Given the description of an element on the screen output the (x, y) to click on. 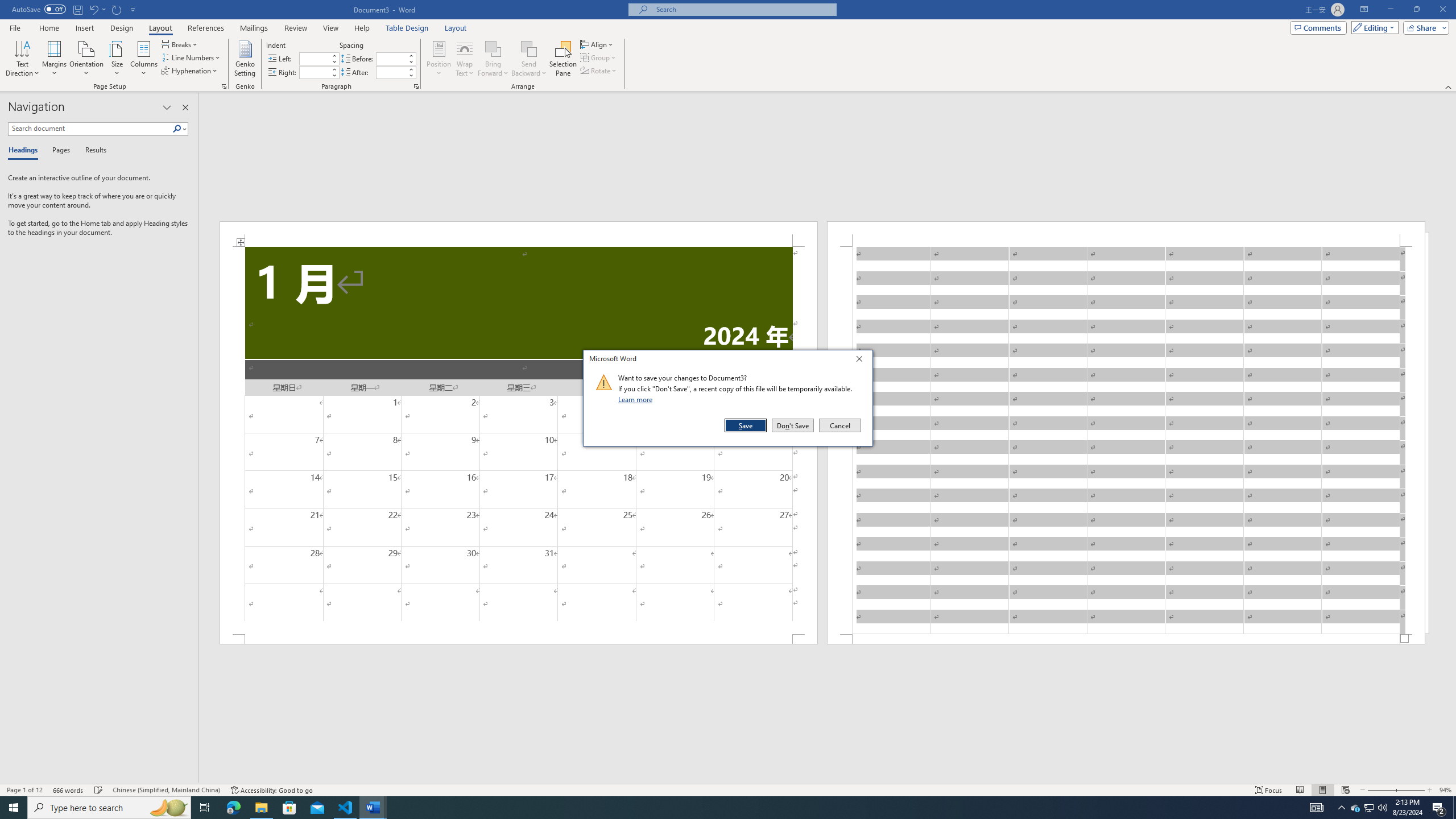
Running applications (717, 807)
Undo Insert Row Below (96, 9)
Visual Studio Code - 1 running window (345, 807)
Footer -Section 1- (1126, 638)
Word Count 666 words (68, 790)
Page Number Page 1 of 12 (24, 790)
Action Center, 2 new notifications (1439, 807)
